Given the description of an element on the screen output the (x, y) to click on. 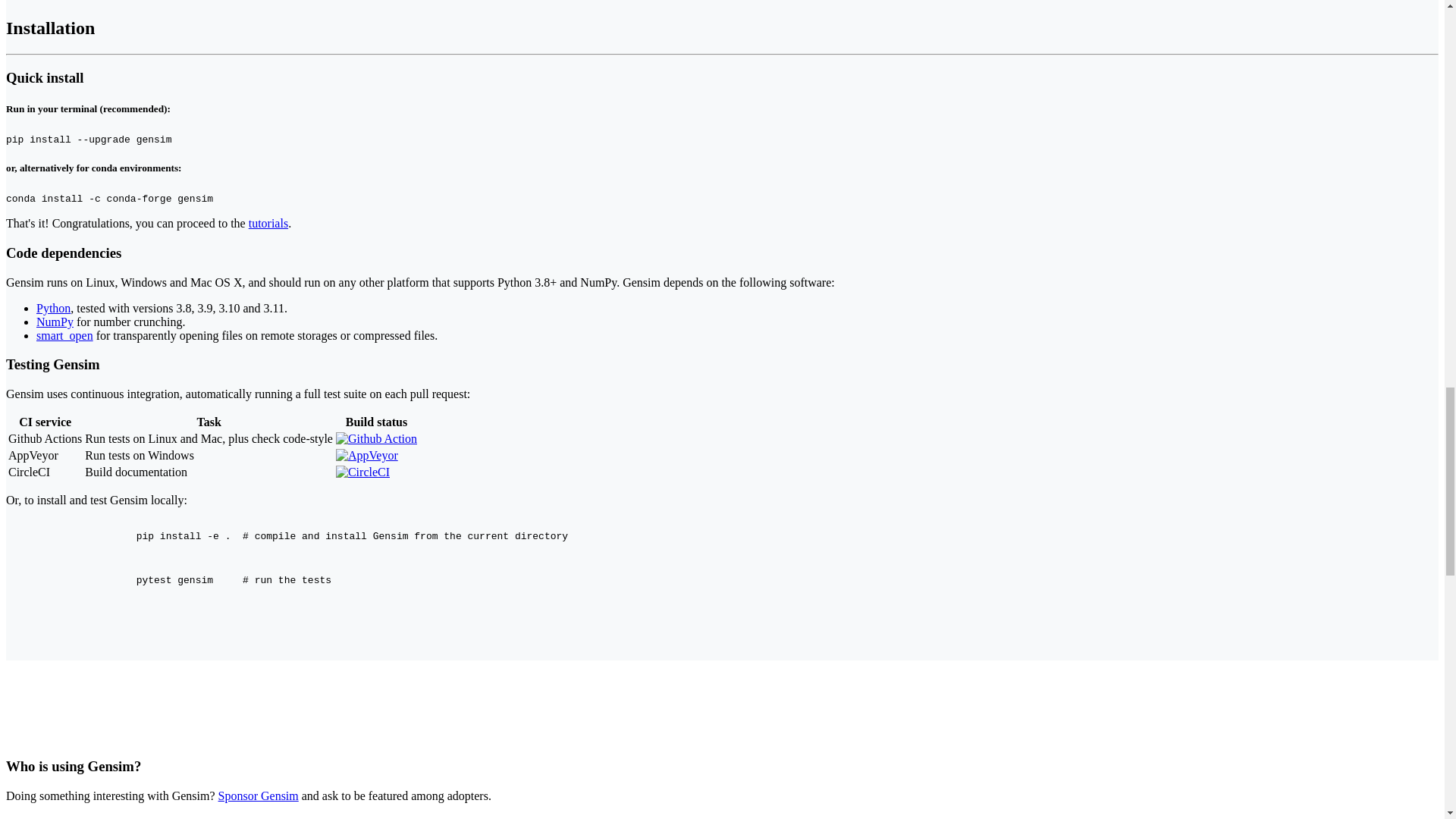
Sponsor Gensim (258, 795)
tutorials (268, 223)
Python (52, 308)
NumPy (55, 321)
